Given the description of an element on the screen output the (x, y) to click on. 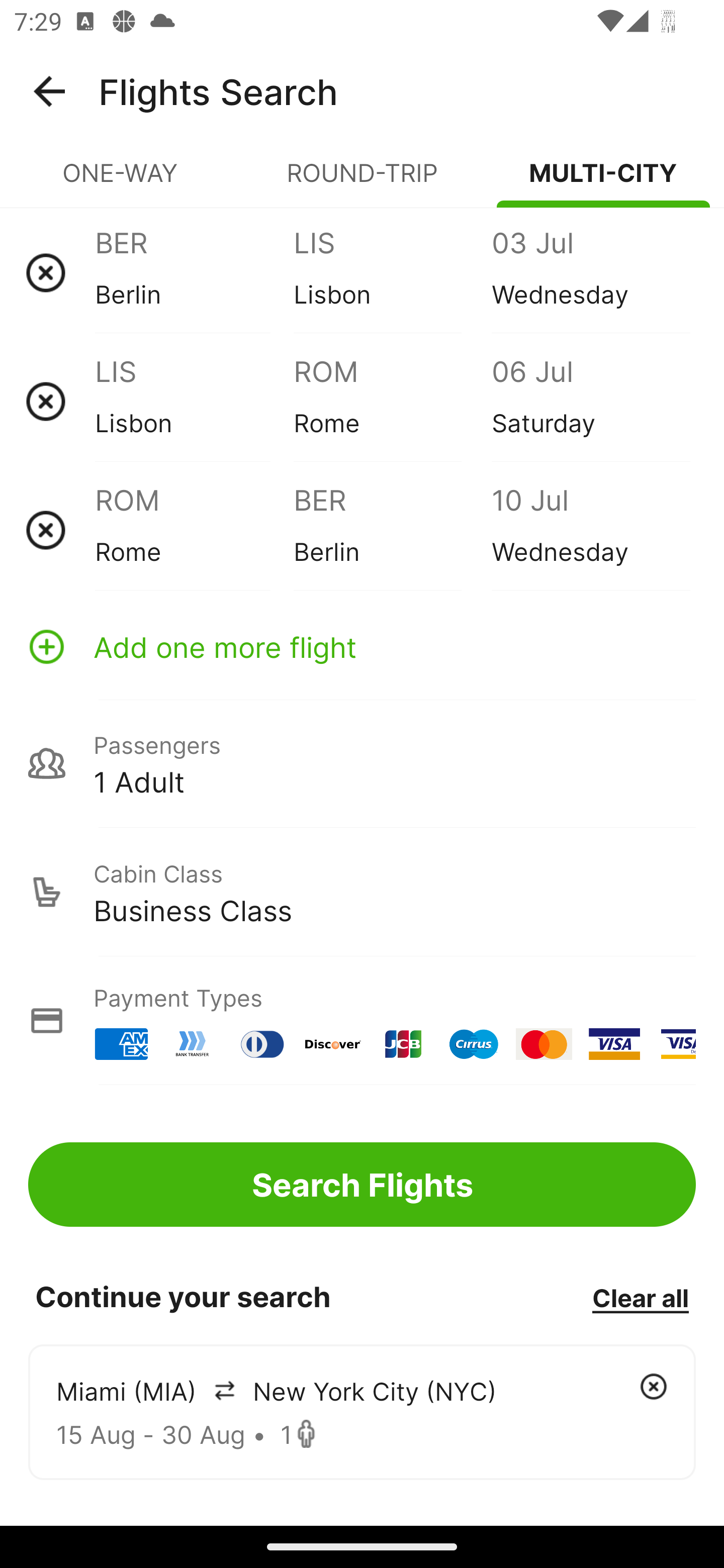
ONE-WAY (120, 180)
ROUND-TRIP (361, 180)
MULTI-CITY (603, 180)
BER Berlin (193, 272)
LIS Lisbon (392, 272)
03 Jul Wednesday (590, 272)
LIS Lisbon (193, 401)
ROM Rome (392, 401)
06 Jul Saturday (590, 401)
ROM Rome (193, 529)
BER Berlin (392, 529)
10 Jul Wednesday (590, 529)
Add one more flight (362, 646)
Passengers 1 Adult (362, 762)
Cabin Class Business Class (362, 891)
Payment Types (362, 1020)
Search Flights (361, 1184)
Clear all (640, 1297)
